Given the description of an element on the screen output the (x, y) to click on. 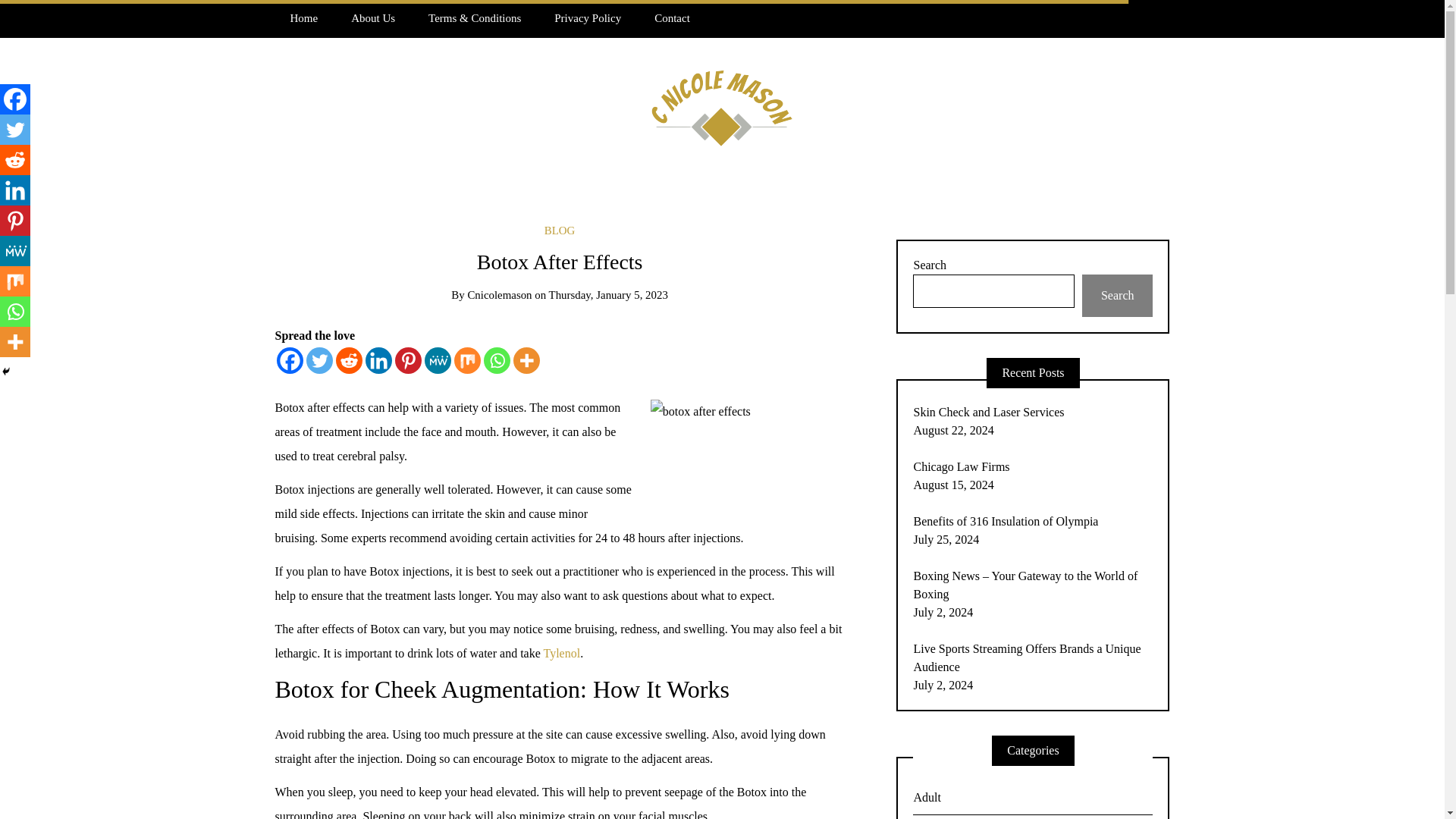
Facebook (15, 99)
Tylenol (561, 653)
Twitter (319, 360)
Cnicolemason (499, 295)
Pinterest (407, 360)
Posts by cnicolemason (499, 295)
Reddit (15, 159)
Thursday, January 5, 2023 (608, 295)
Whatsapp (497, 360)
Linkedin (378, 360)
